Given the description of an element on the screen output the (x, y) to click on. 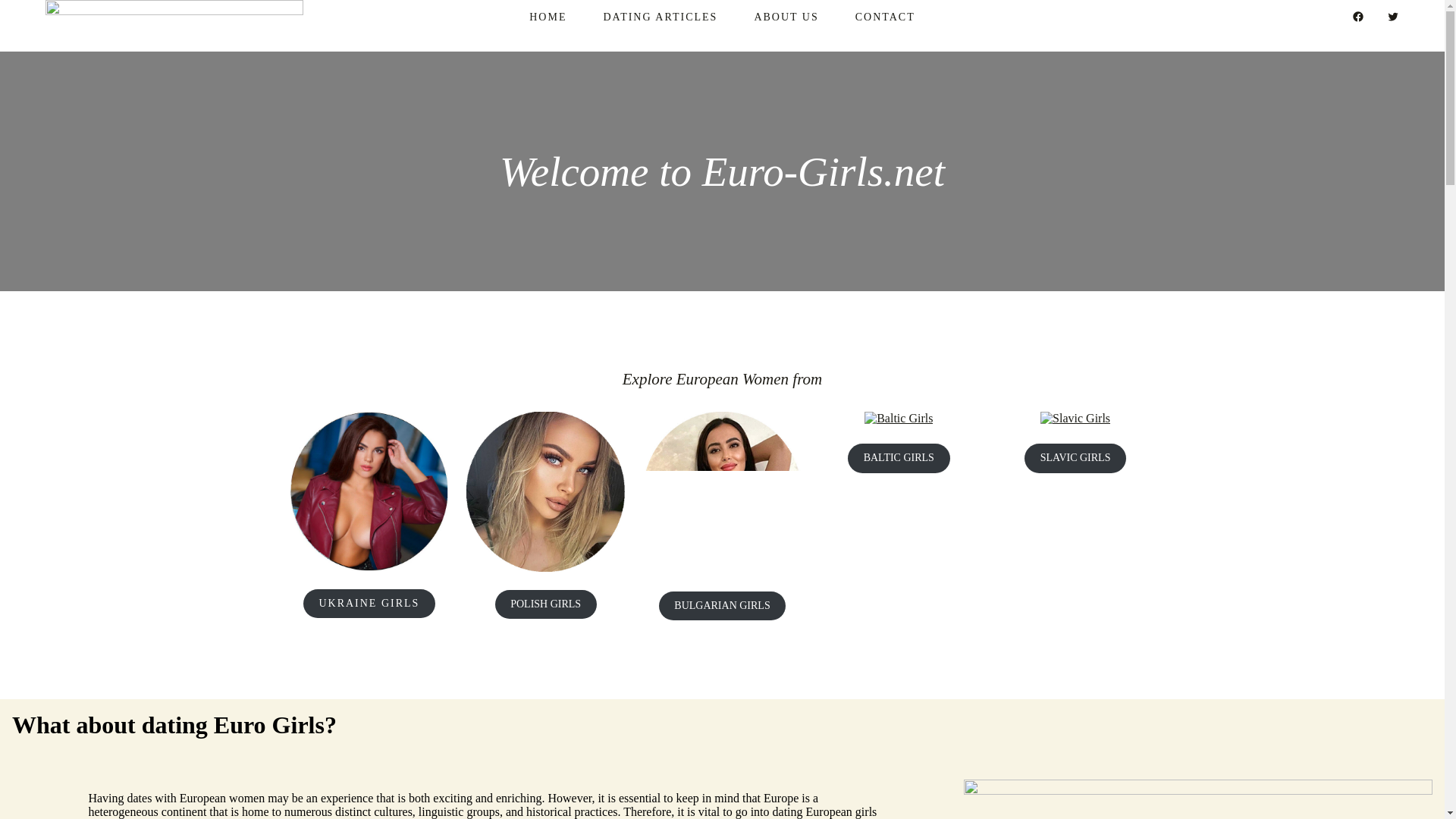
SLAVIC GIRLS (1075, 458)
POLISH GIRLS (545, 604)
BALTIC GIRLS (898, 458)
HOME (547, 17)
UKRAINE GIRLS (368, 603)
BULGARIAN GIRLS (722, 605)
ABOUT US (786, 17)
CONTACT (885, 17)
DATING ARTICLES (659, 17)
